Given the description of an element on the screen output the (x, y) to click on. 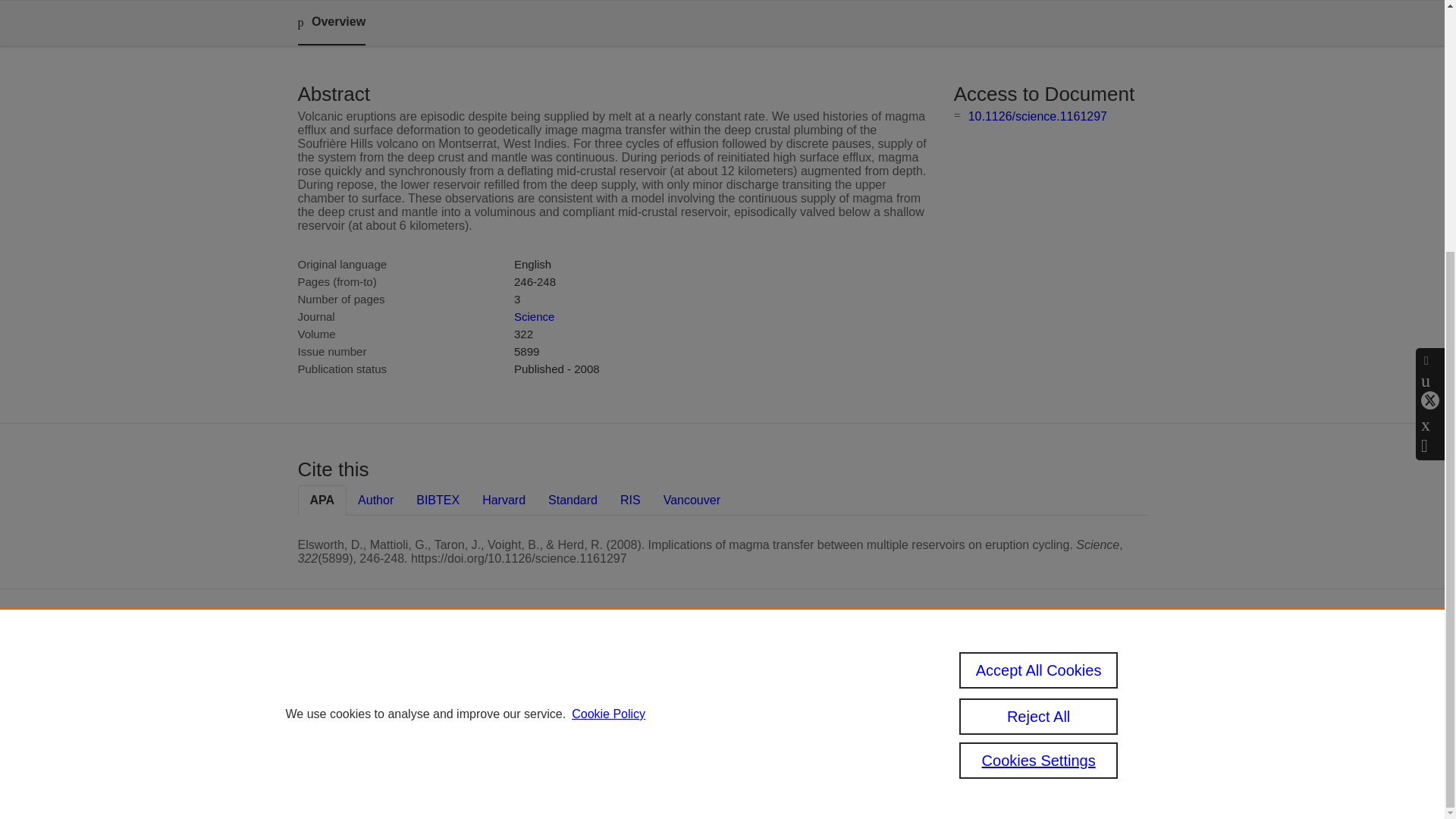
University of East Anglia data protection policy (1027, 675)
Elsevier B.V. (764, 685)
Scopus (652, 664)
Cookies Settings (591, 760)
Report vulnerability (1021, 739)
About web accessibility (1005, 712)
use of cookies (660, 739)
Overview (331, 22)
Science (533, 316)
Cookie Policy (608, 359)
